Given the description of an element on the screen output the (x, y) to click on. 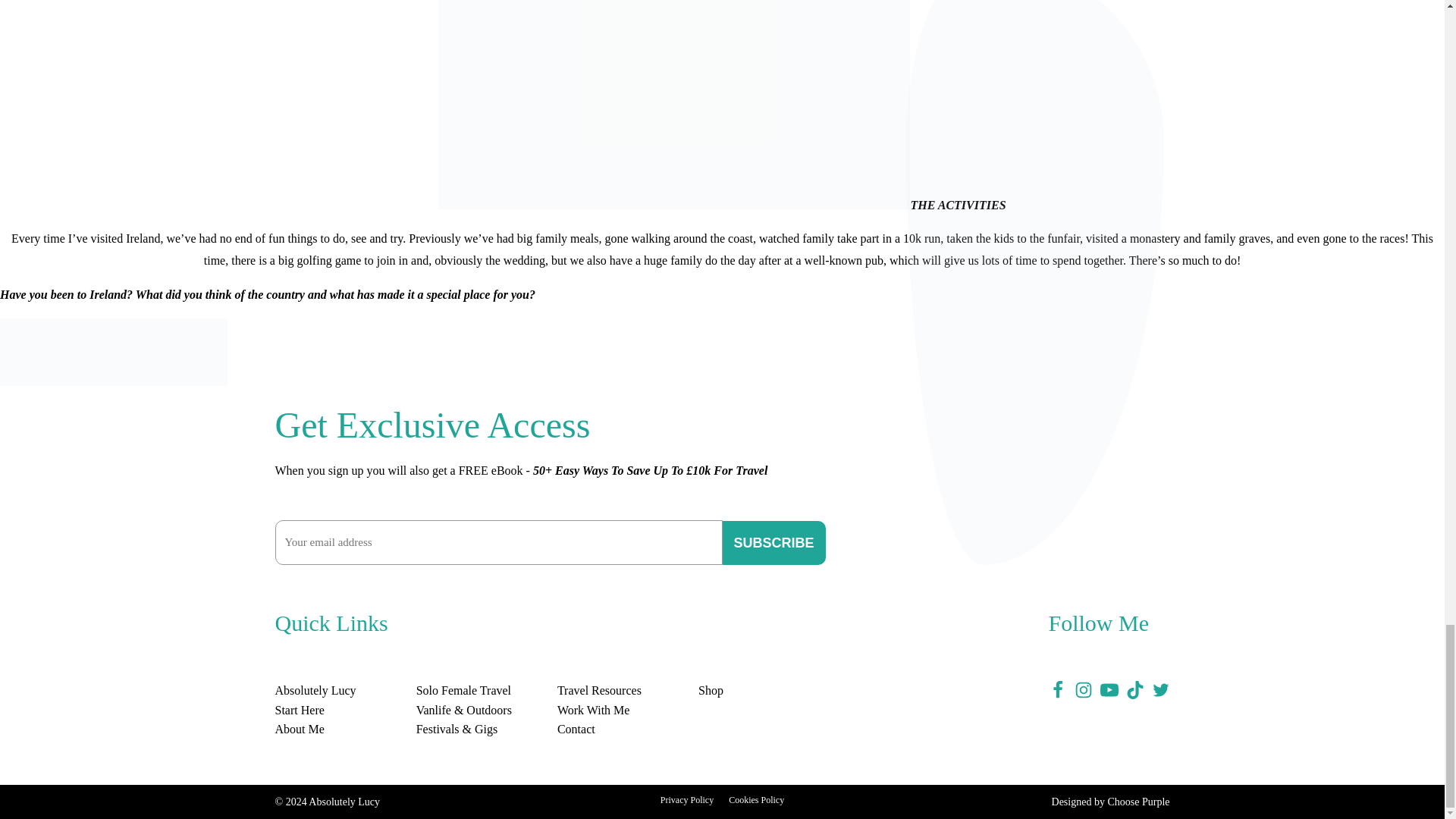
Subscribe (773, 542)
